Given the description of an element on the screen output the (x, y) to click on. 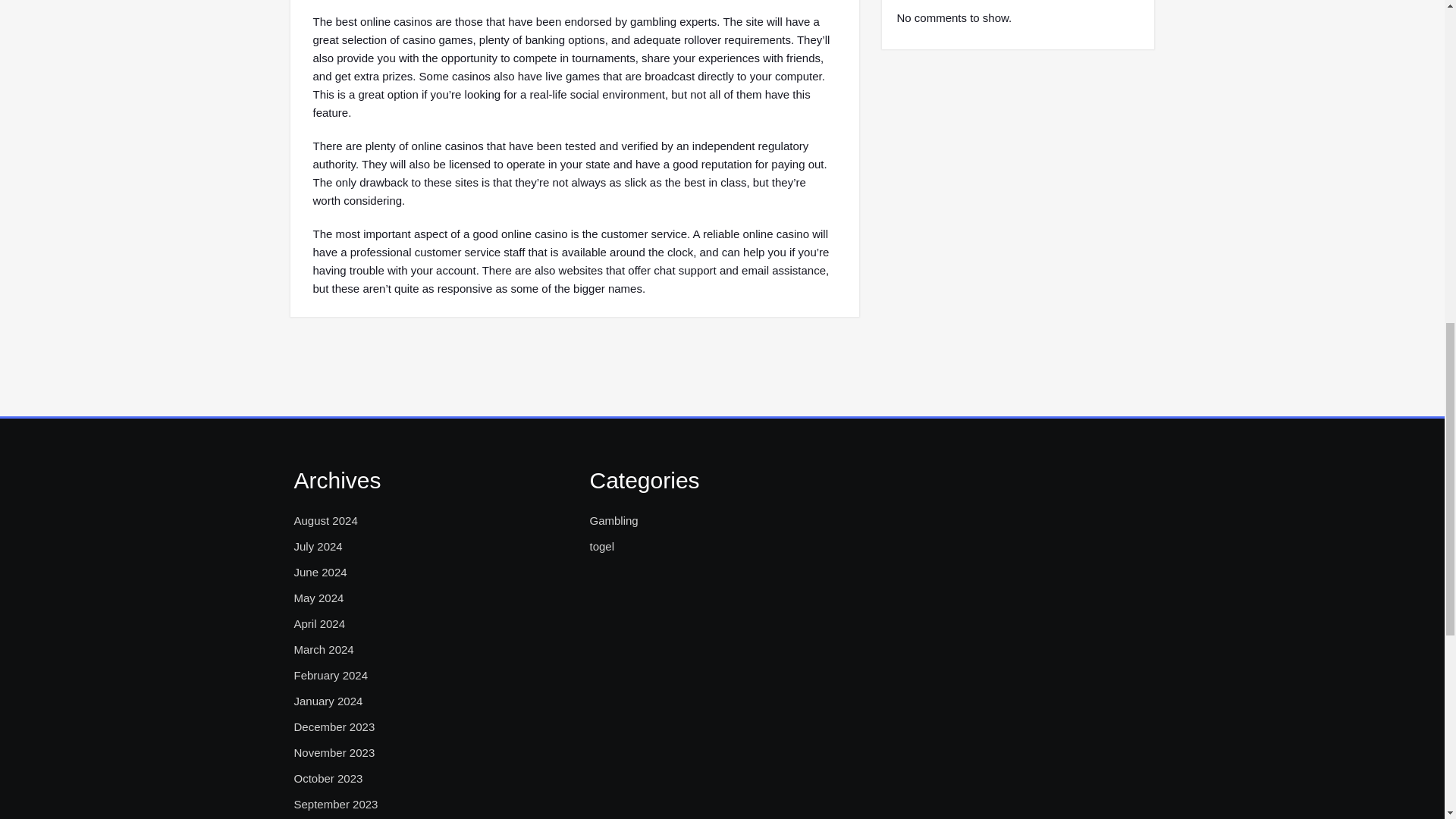
January 2024 (328, 701)
March 2024 (323, 649)
August 2024 (326, 520)
May 2024 (318, 597)
October 2023 (328, 778)
September 2023 (336, 804)
July 2024 (318, 546)
December 2023 (334, 727)
April 2024 (320, 624)
November 2023 (334, 752)
